Given the description of an element on the screen output the (x, y) to click on. 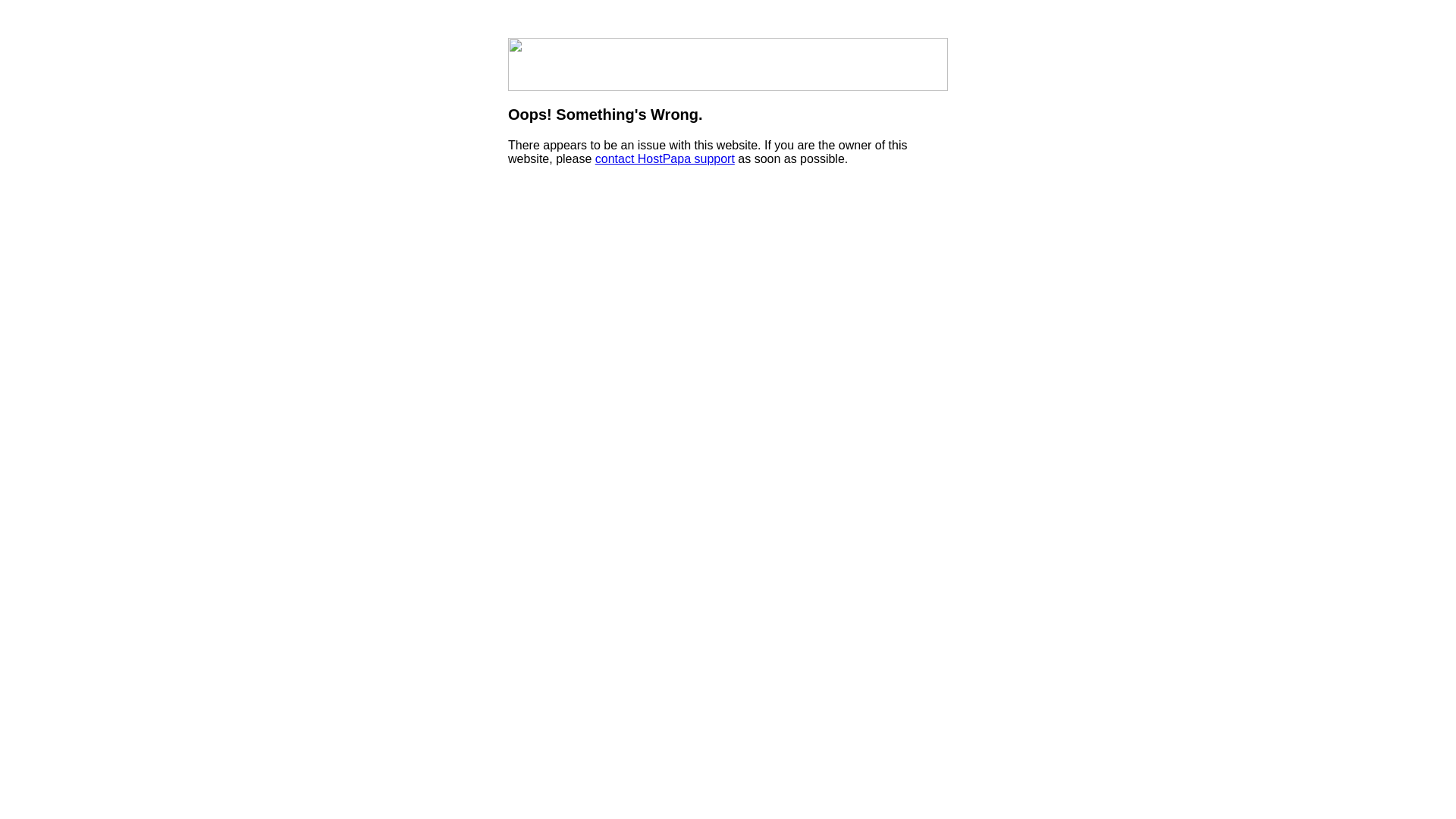
contact HostPapa support Element type: text (664, 158)
